Given the description of an element on the screen output the (x, y) to click on. 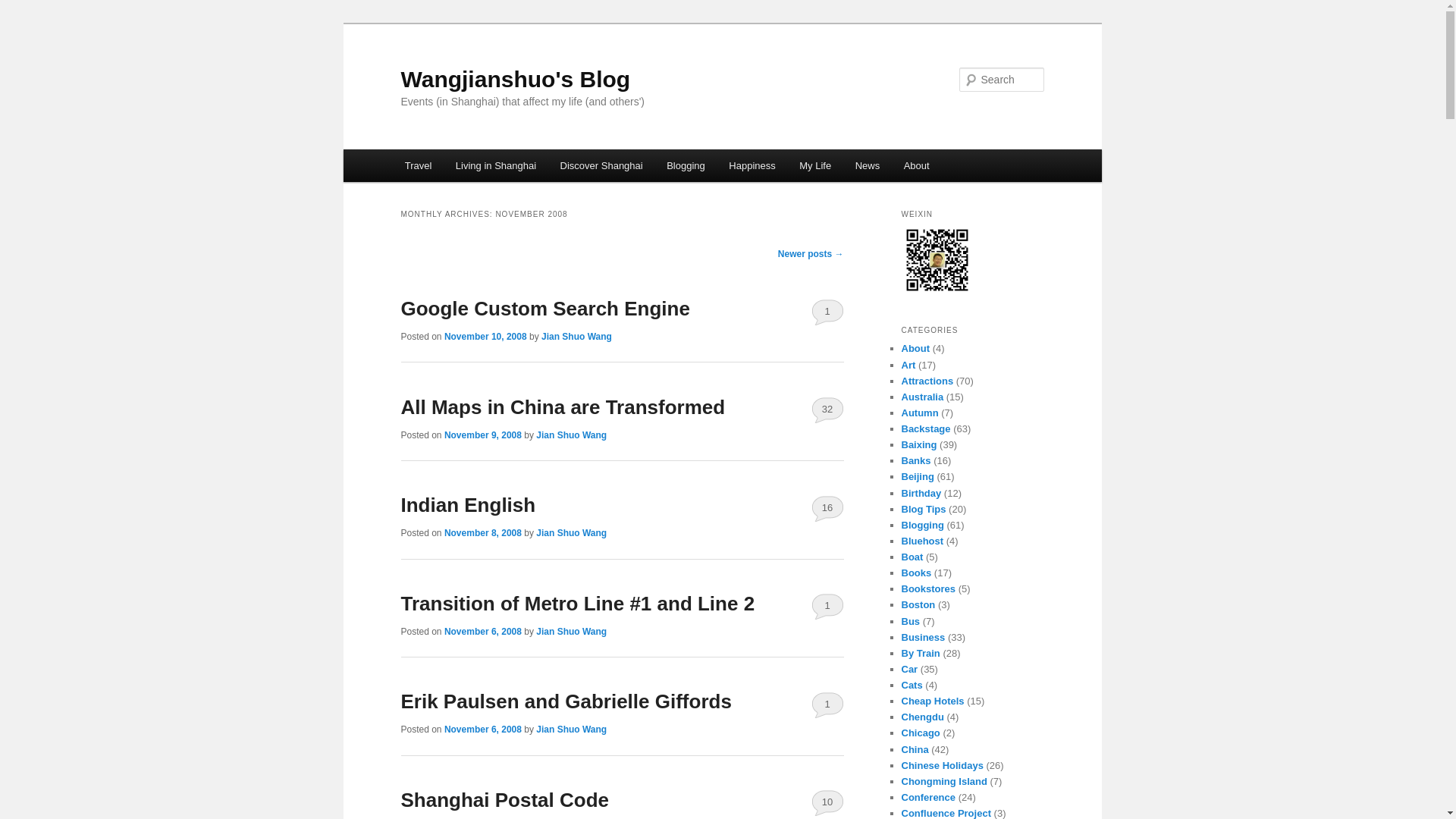
9:41 pm (482, 728)
View all posts by Jian Shuo Wang (576, 336)
9:46 pm (482, 631)
Travel (418, 165)
10:46 pm (482, 532)
View all posts by Jian Shuo Wang (571, 532)
Search (24, 8)
Wangjianshuo's Blog (515, 78)
Living in Shanghai (496, 165)
2:01 pm (485, 336)
View all posts by Jian Shuo Wang (571, 434)
View all posts by Jian Shuo Wang (571, 728)
2:26 pm (482, 434)
View all posts by Jian Shuo Wang (571, 631)
